Given the description of an element on the screen output the (x, y) to click on. 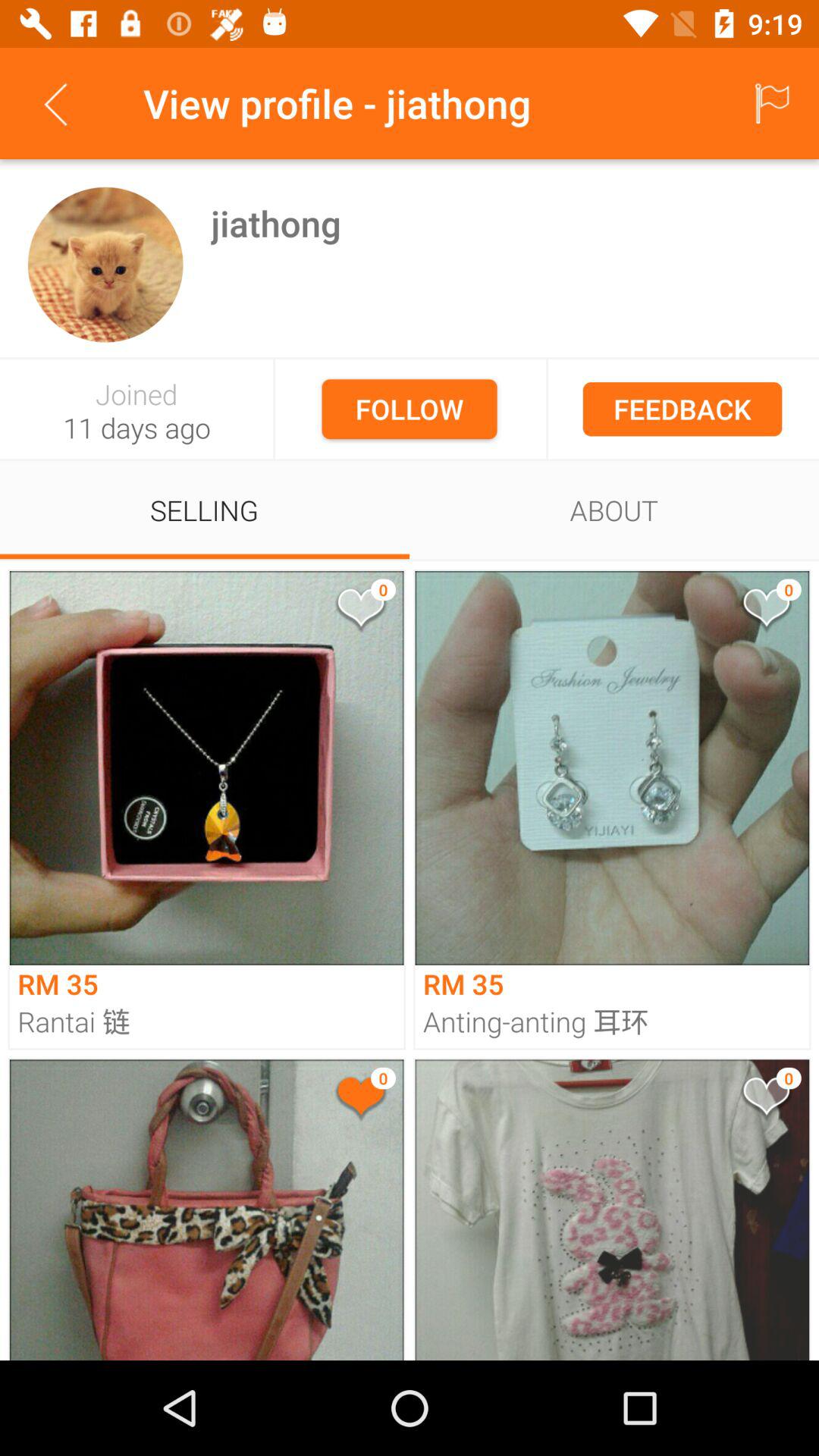
launch icon next to view profile - jiathong icon (55, 103)
